Given the description of an element on the screen output the (x, y) to click on. 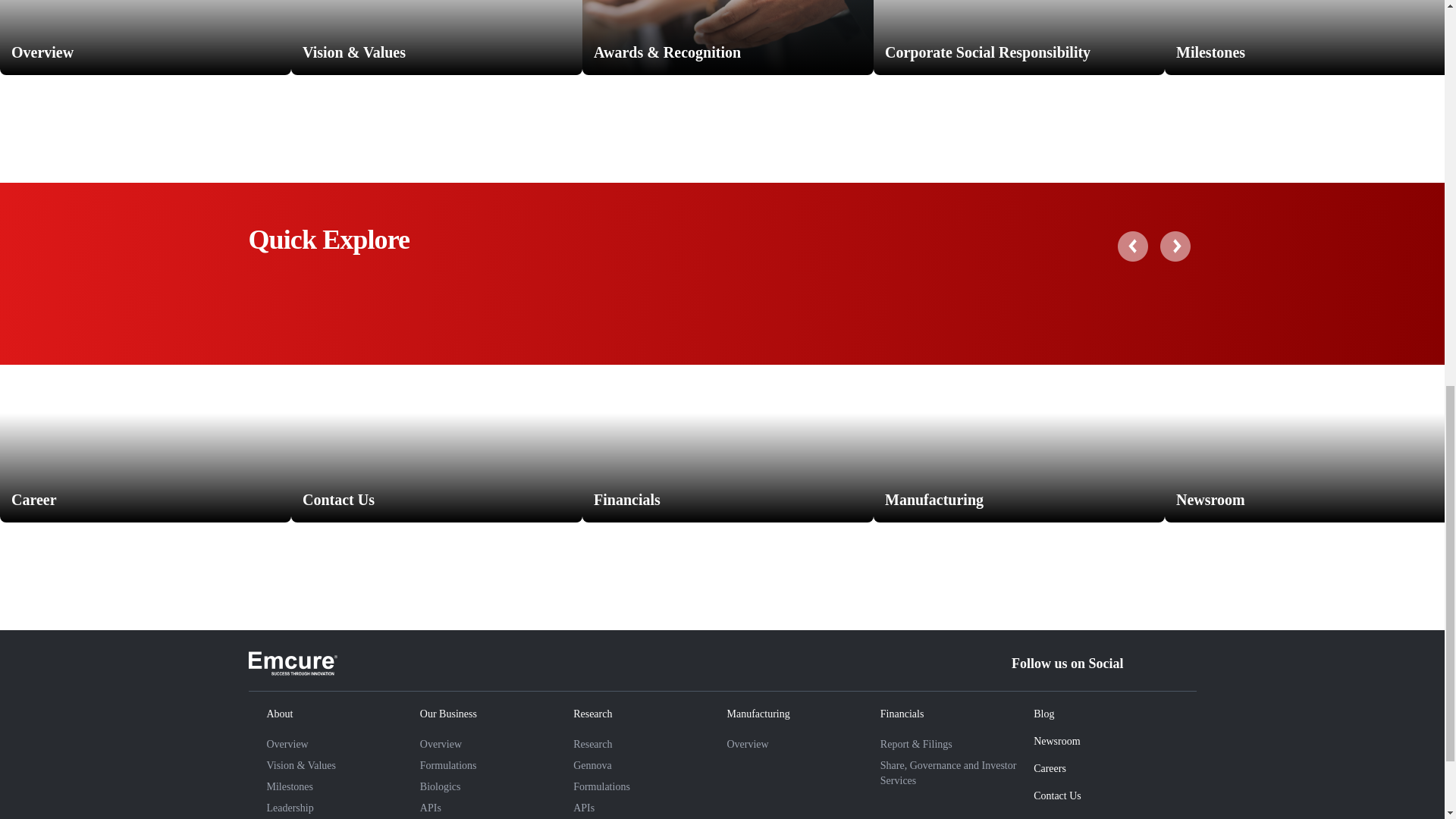
Financials (727, 412)
Manufacturing (1018, 412)
Contact Us (436, 412)
Overview (145, 37)
Career (145, 412)
Corporate Social Responsibility (1018, 37)
